Given the description of an element on the screen output the (x, y) to click on. 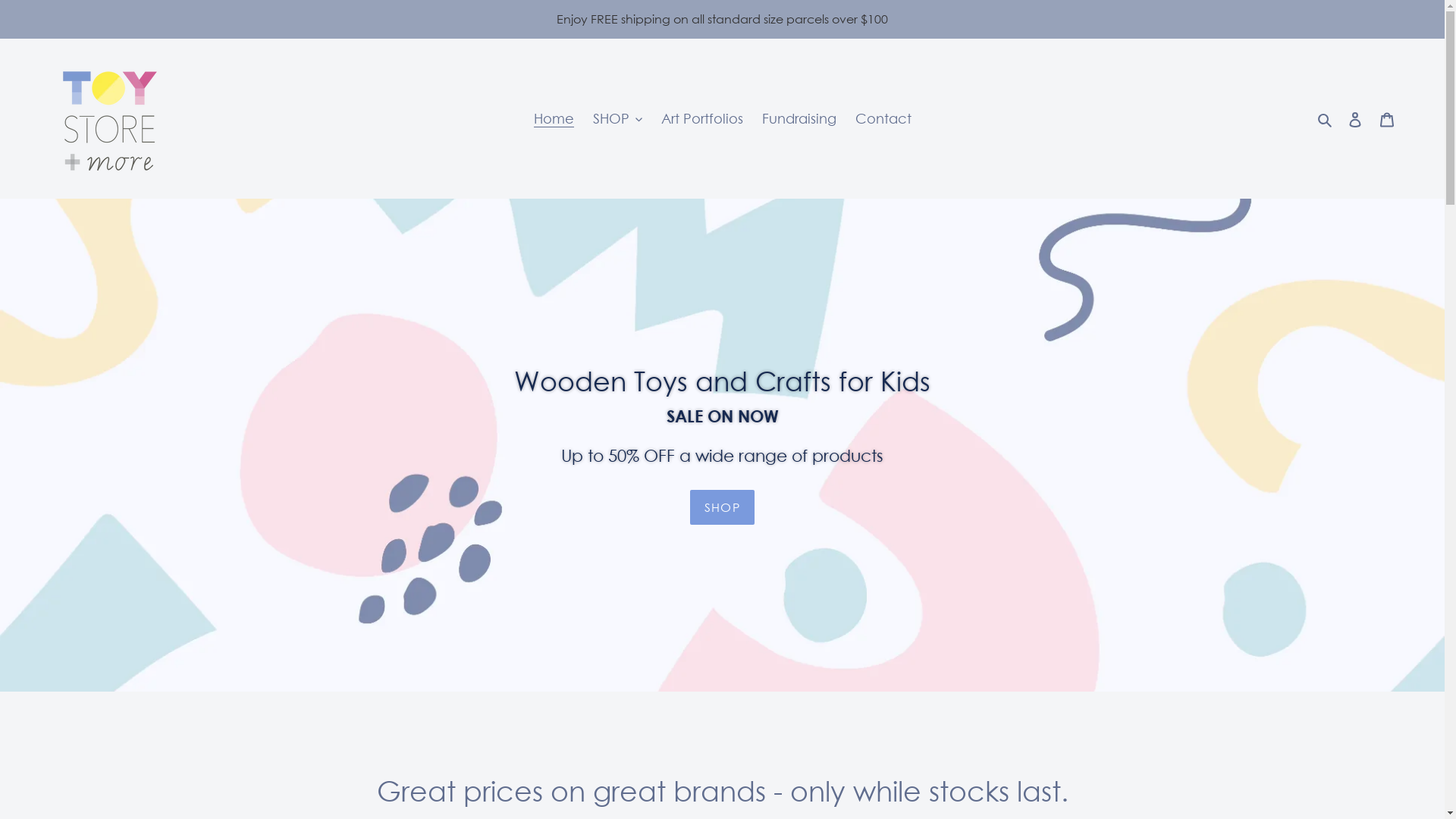
Art Portfolios Element type: text (701, 118)
Contact Element type: text (883, 118)
SHOP Element type: text (617, 118)
Enjoy FREE shipping on all standard size parcels over $100 Element type: text (722, 18)
Log in Element type: text (1355, 117)
Fundraising Element type: text (798, 118)
SHOP Element type: text (722, 506)
Home Element type: text (553, 118)
Cart Element type: text (1386, 117)
Search Element type: text (1325, 118)
